Given the description of an element on the screen output the (x, y) to click on. 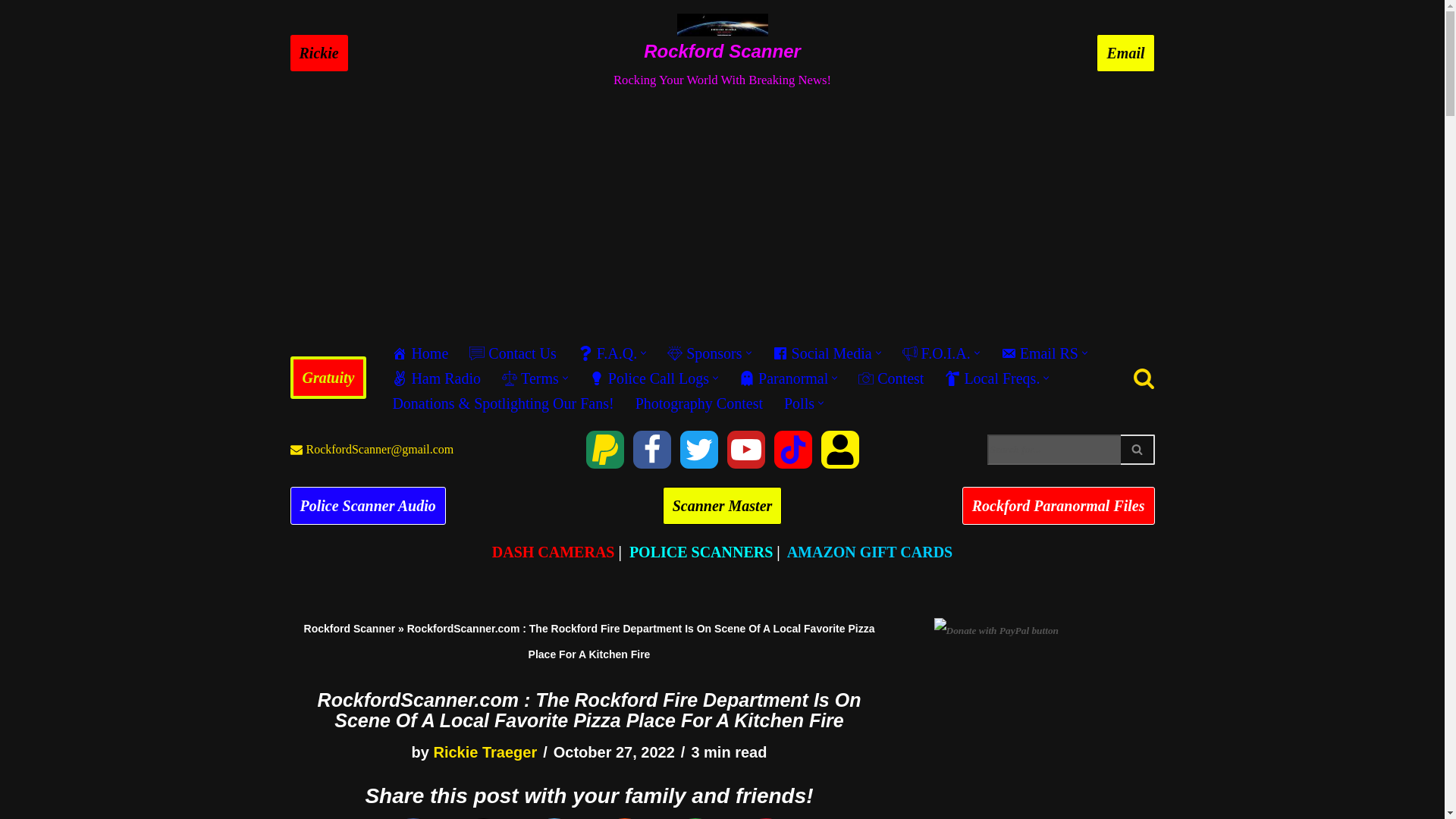
Gratuity (604, 449)
F.A.Q. (607, 352)
Ham Radio (435, 377)
Local Freqs. (991, 377)
Youtube (745, 449)
F.O.I.A. (936, 352)
Social Media (822, 352)
Contest (891, 377)
Contact Us (512, 352)
Paranormal (783, 377)
